Given the description of an element on the screen output the (x, y) to click on. 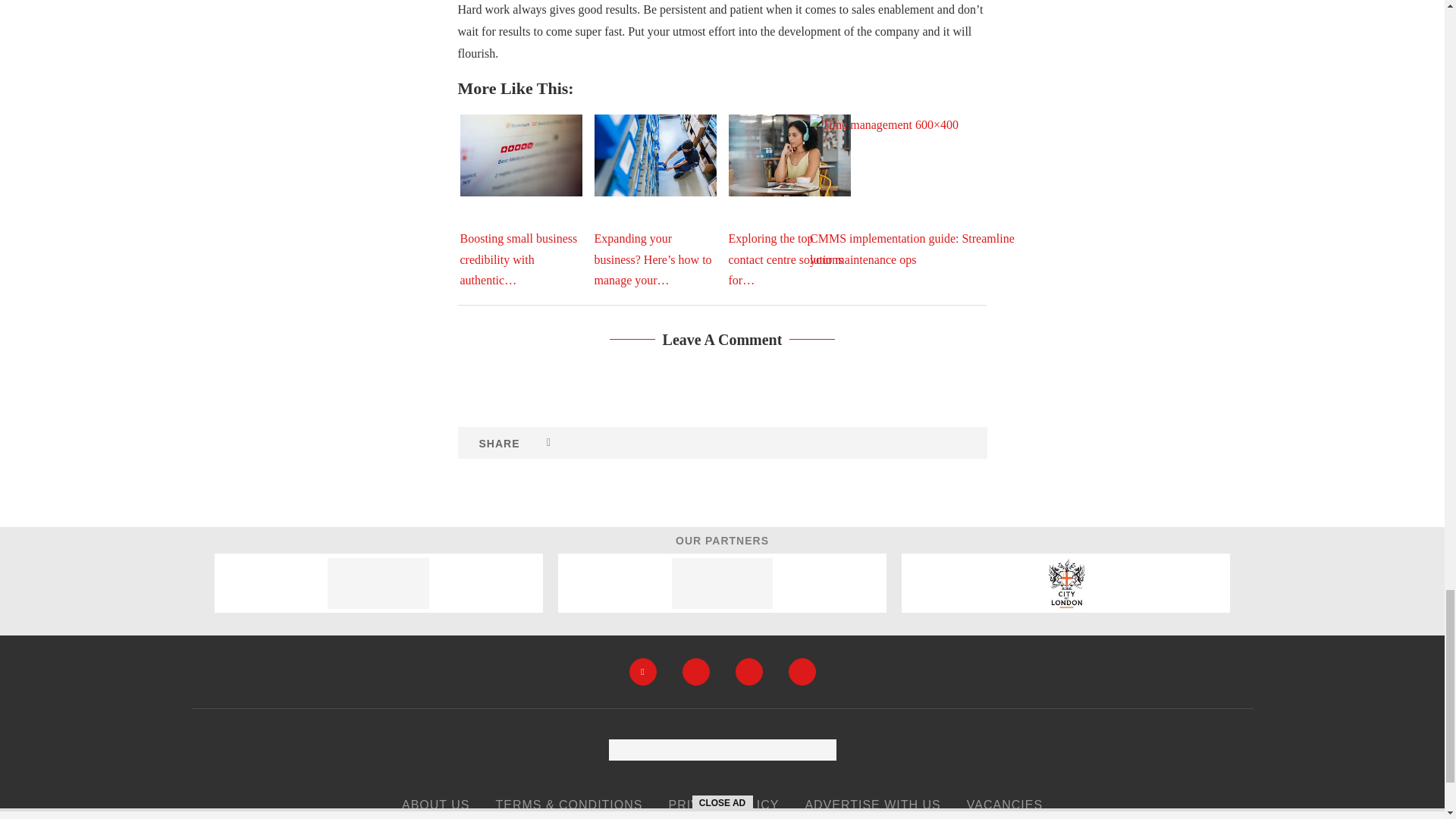
CMMS implementation guide: Streamline your maintenance ops (922, 190)
